Given the description of an element on the screen output the (x, y) to click on. 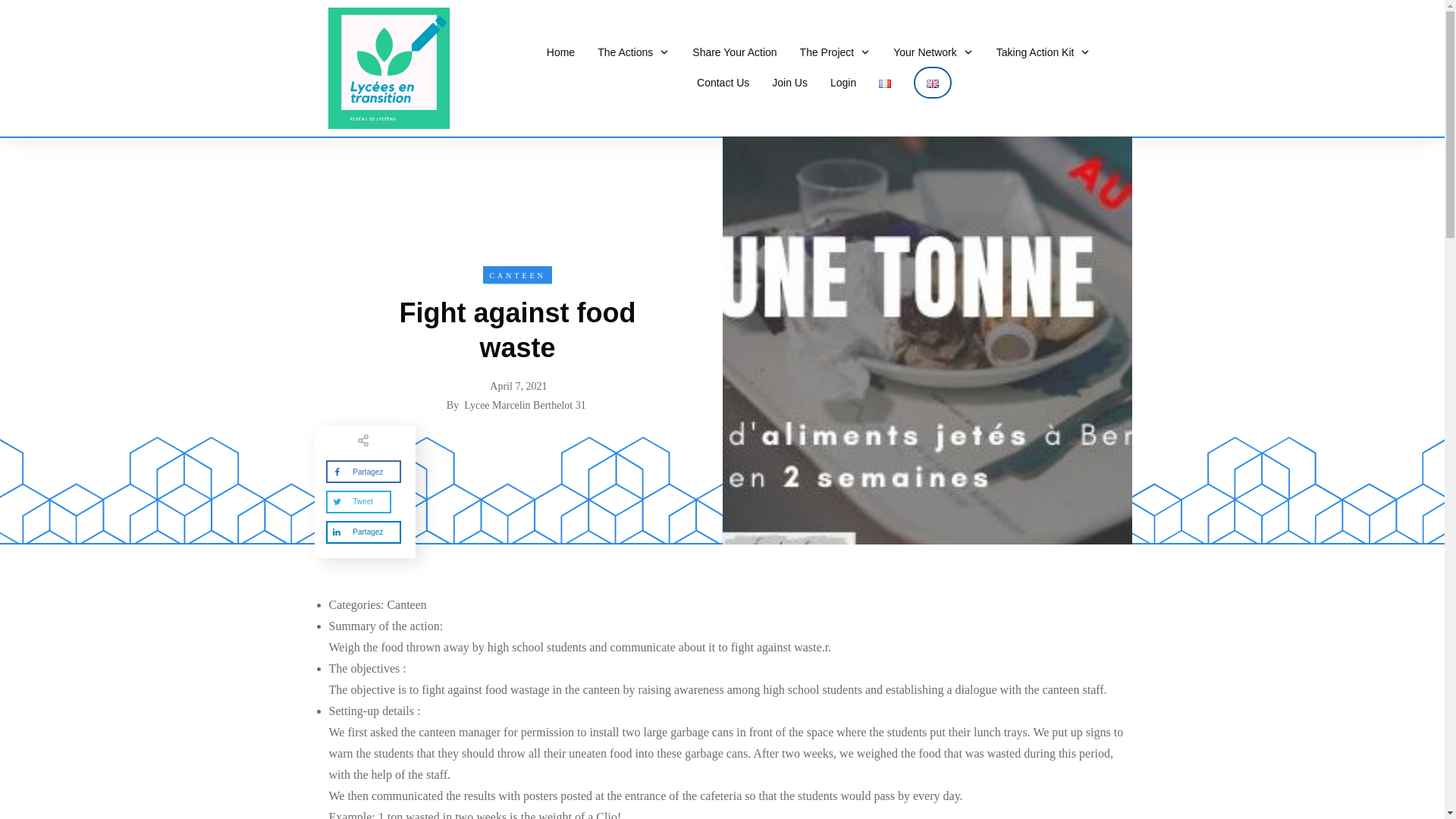
Tweet (358, 501)
Your Network (933, 52)
Partagez (363, 532)
Taking Action Kit (1042, 52)
Home (561, 52)
The Actions (632, 52)
Join Us (789, 82)
Share Your Action (734, 52)
Login (842, 82)
The Project (834, 52)
